Given the description of an element on the screen output the (x, y) to click on. 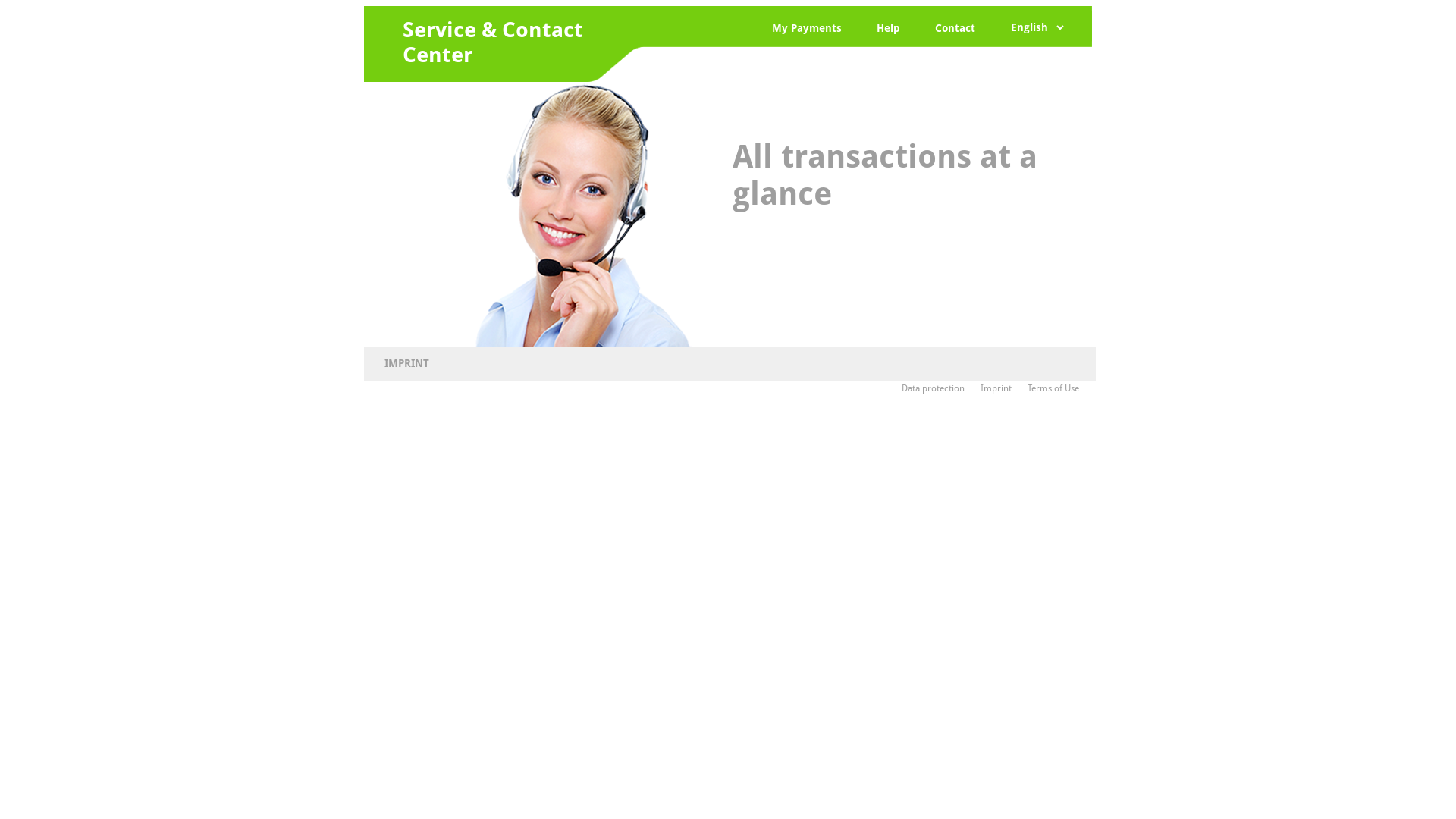
Service & Contact Center Element type: text (492, 42)
Contact Element type: text (952, 25)
Terms of Use Element type: text (1059, 387)
Data protection Element type: text (939, 387)
My Payments Element type: text (804, 25)
Imprint Element type: text (1002, 387)
Help Element type: text (885, 25)
